Given the description of an element on the screen output the (x, y) to click on. 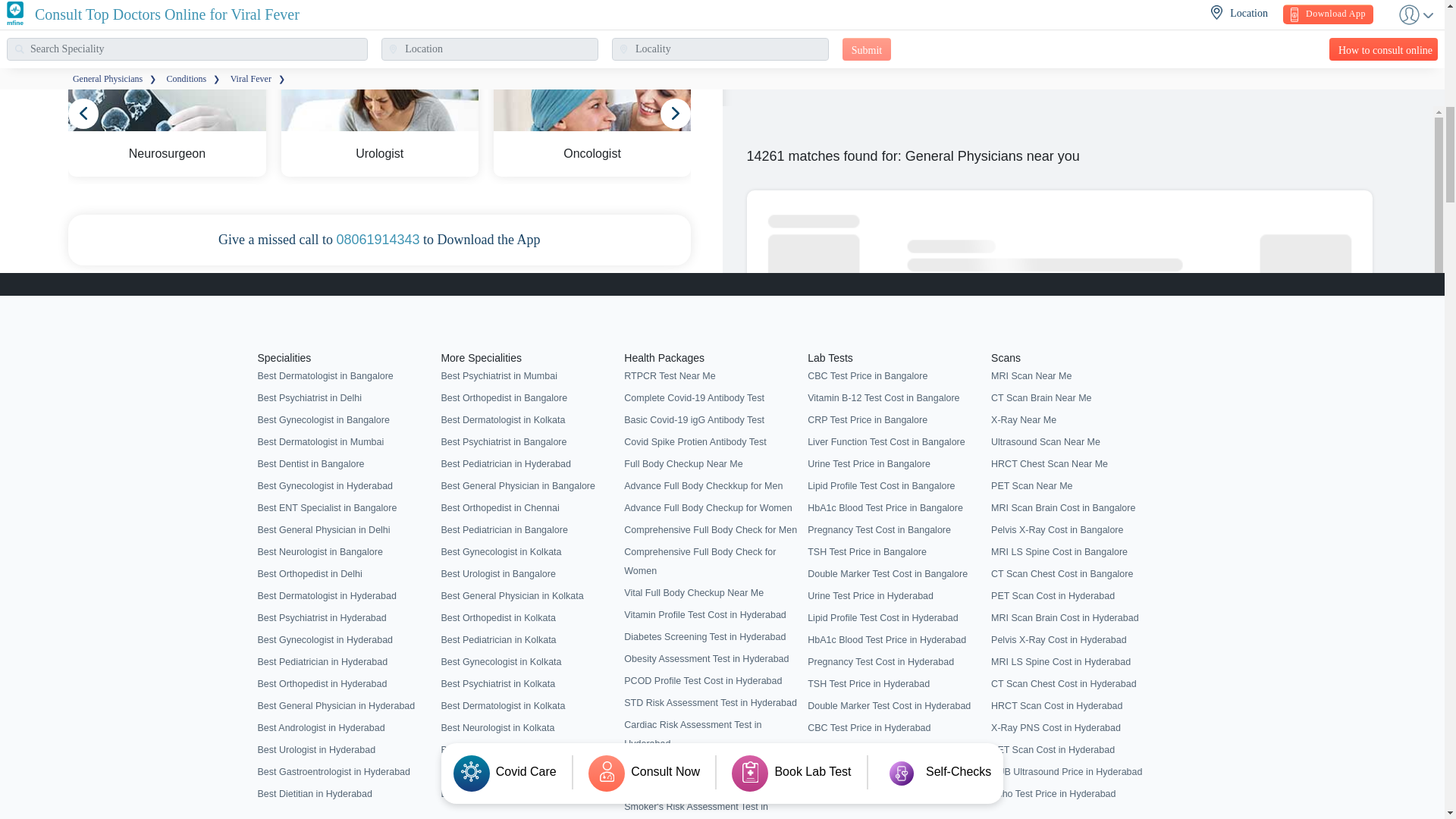
Neurosurgeon (166, 129)
Oncologist (591, 129)
Urologist (380, 129)
